Given the description of an element on the screen output the (x, y) to click on. 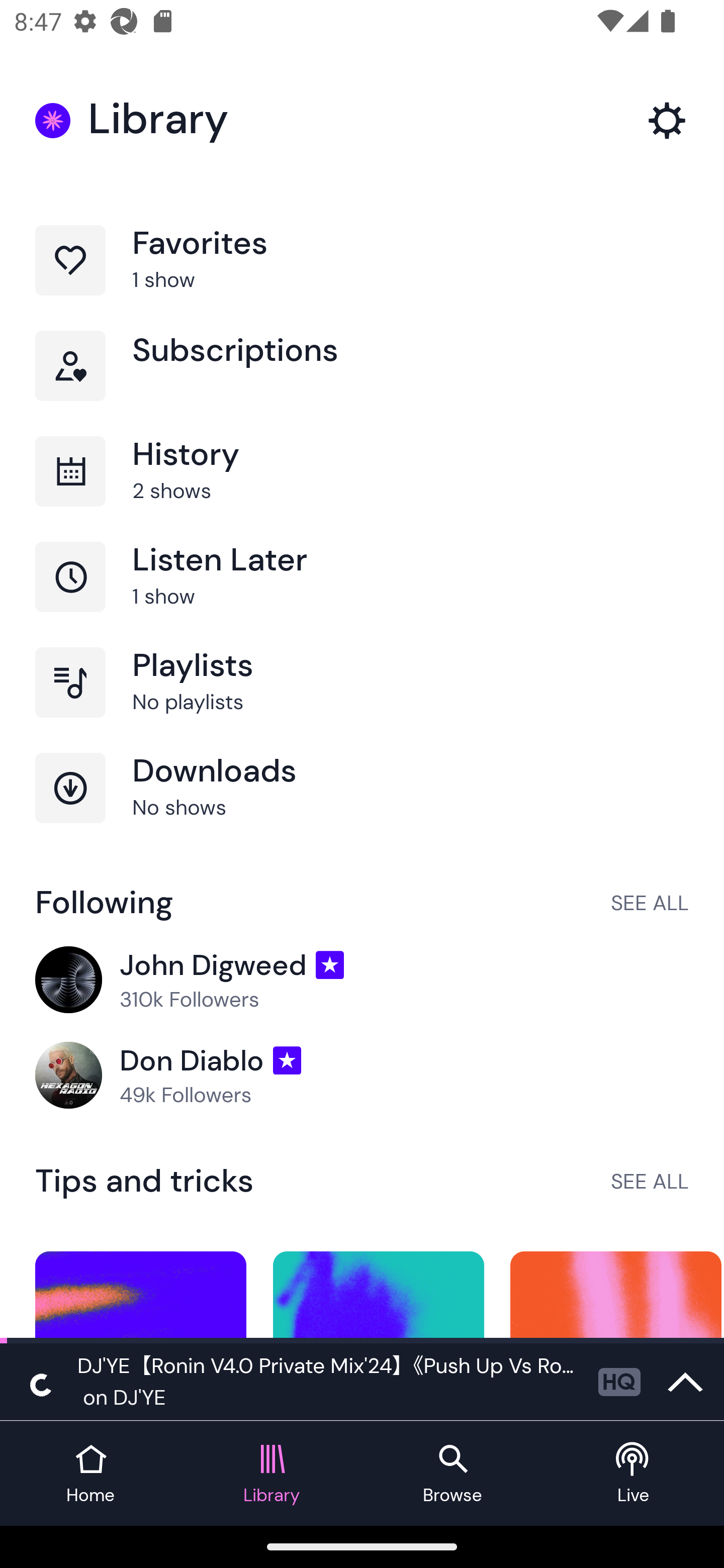
Favorites, 1 show Favorites 1 show (361, 277)
Subscriptions (361, 382)
History, 2 shows History 2 shows (361, 488)
Listen Later, 1 show Listen Later 1 show (361, 594)
Playlists, No playlists Playlists No playlists (361, 699)
Downloads, No shows Downloads No shows (361, 804)
SEE ALL (649, 902)
Don Diablo, 49k Followers Don Diablo 49k Followers (361, 1075)
SEE ALL (649, 1181)
Home tab Home (90, 1473)
Library tab Library (271, 1473)
Browse tab Browse (452, 1473)
Live tab Live (633, 1473)
